Given the description of an element on the screen output the (x, y) to click on. 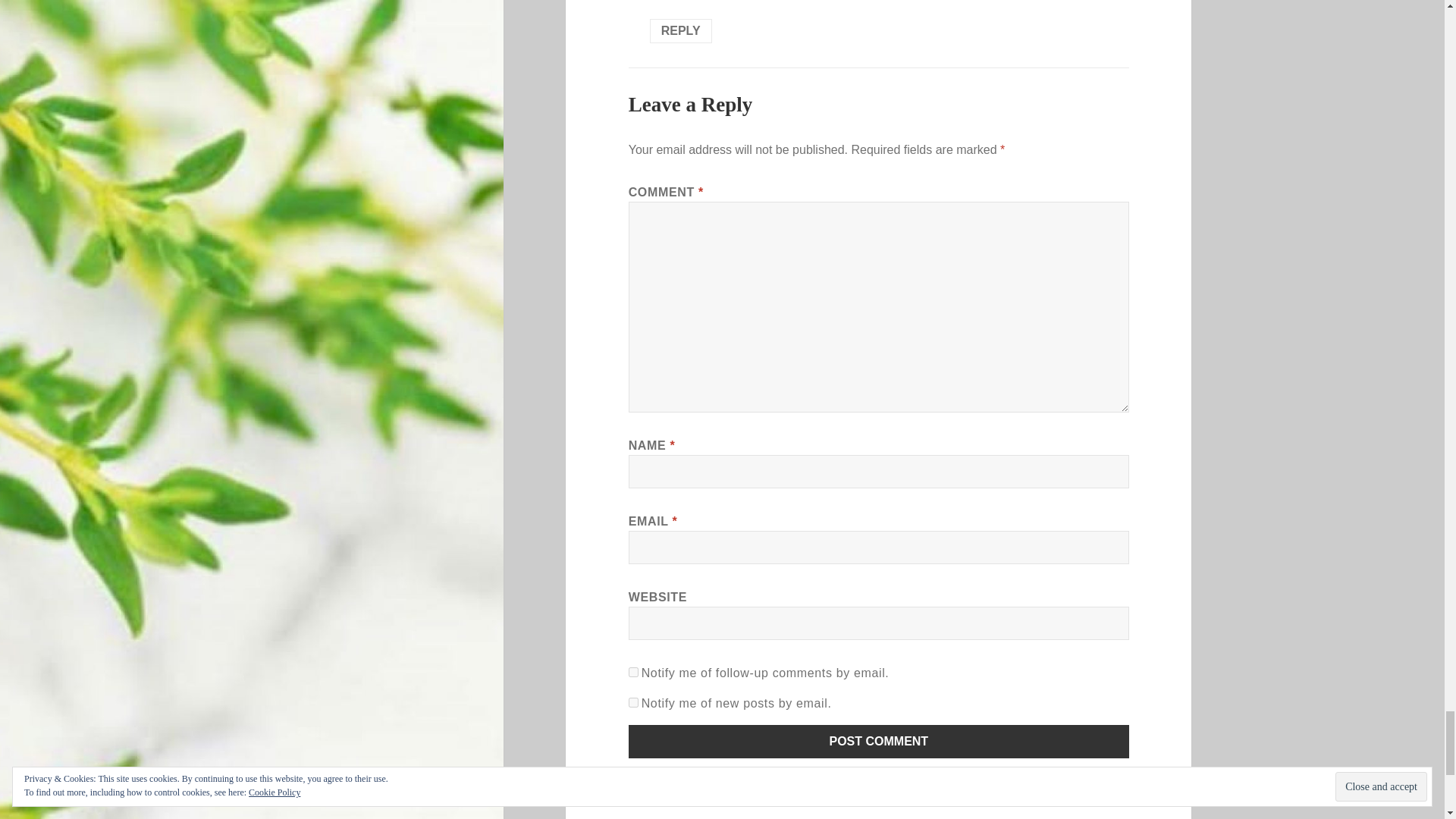
Post Comment (878, 741)
subscribe (633, 672)
subscribe (633, 702)
